Given the description of an element on the screen output the (x, y) to click on. 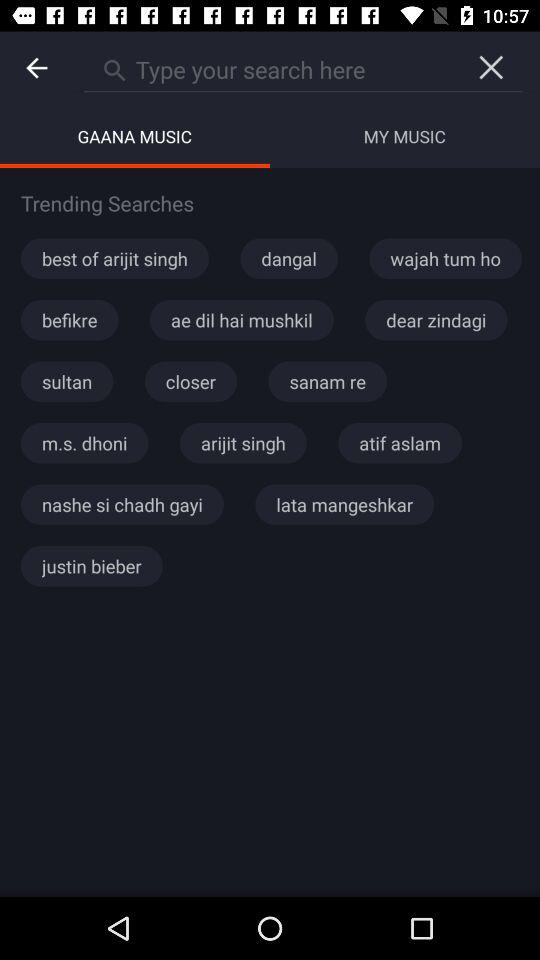
type search keywords (271, 67)
